Given the description of an element on the screen output the (x, y) to click on. 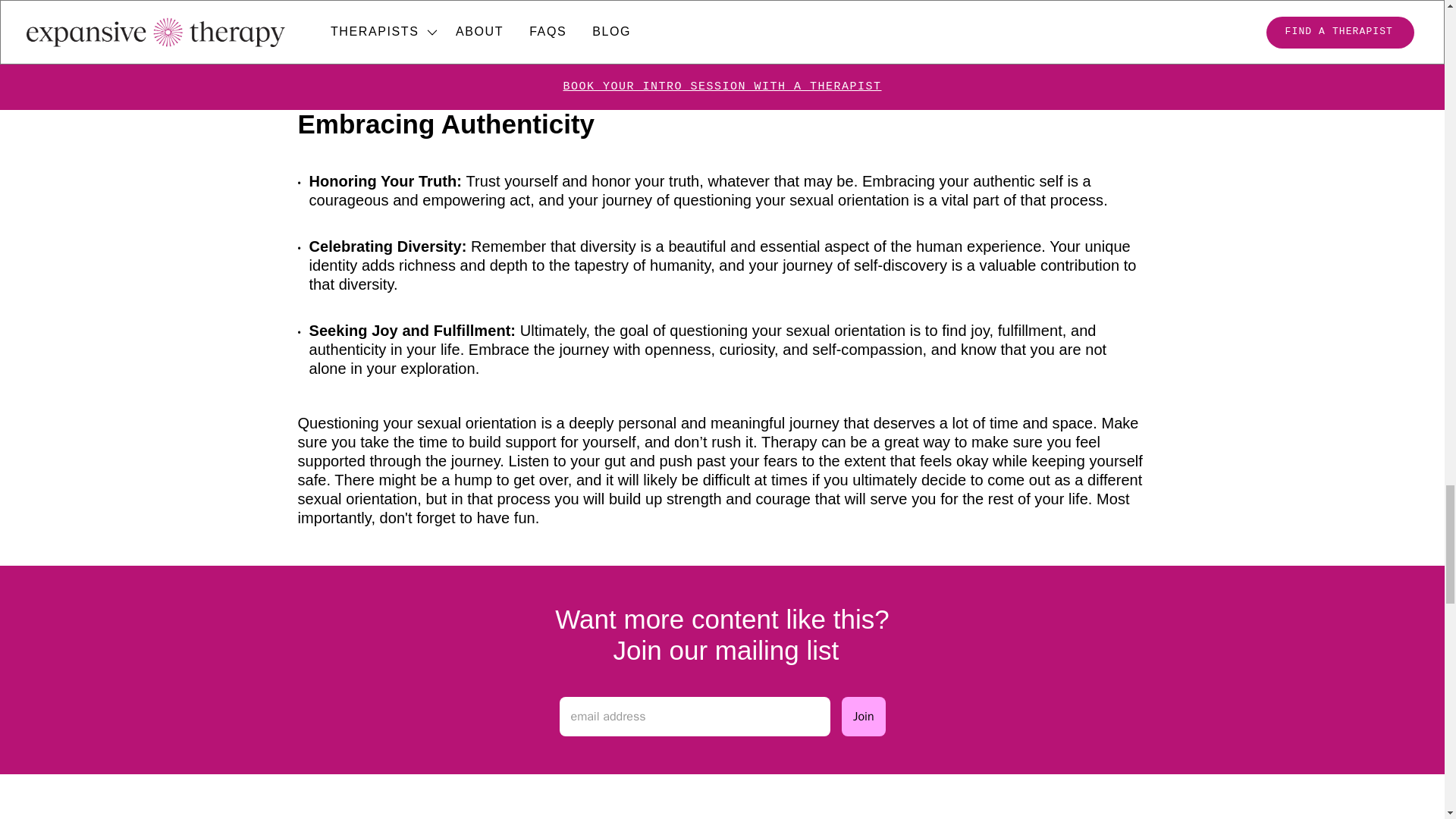
Join (863, 716)
Join (863, 716)
